Given the description of an element on the screen output the (x, y) to click on. 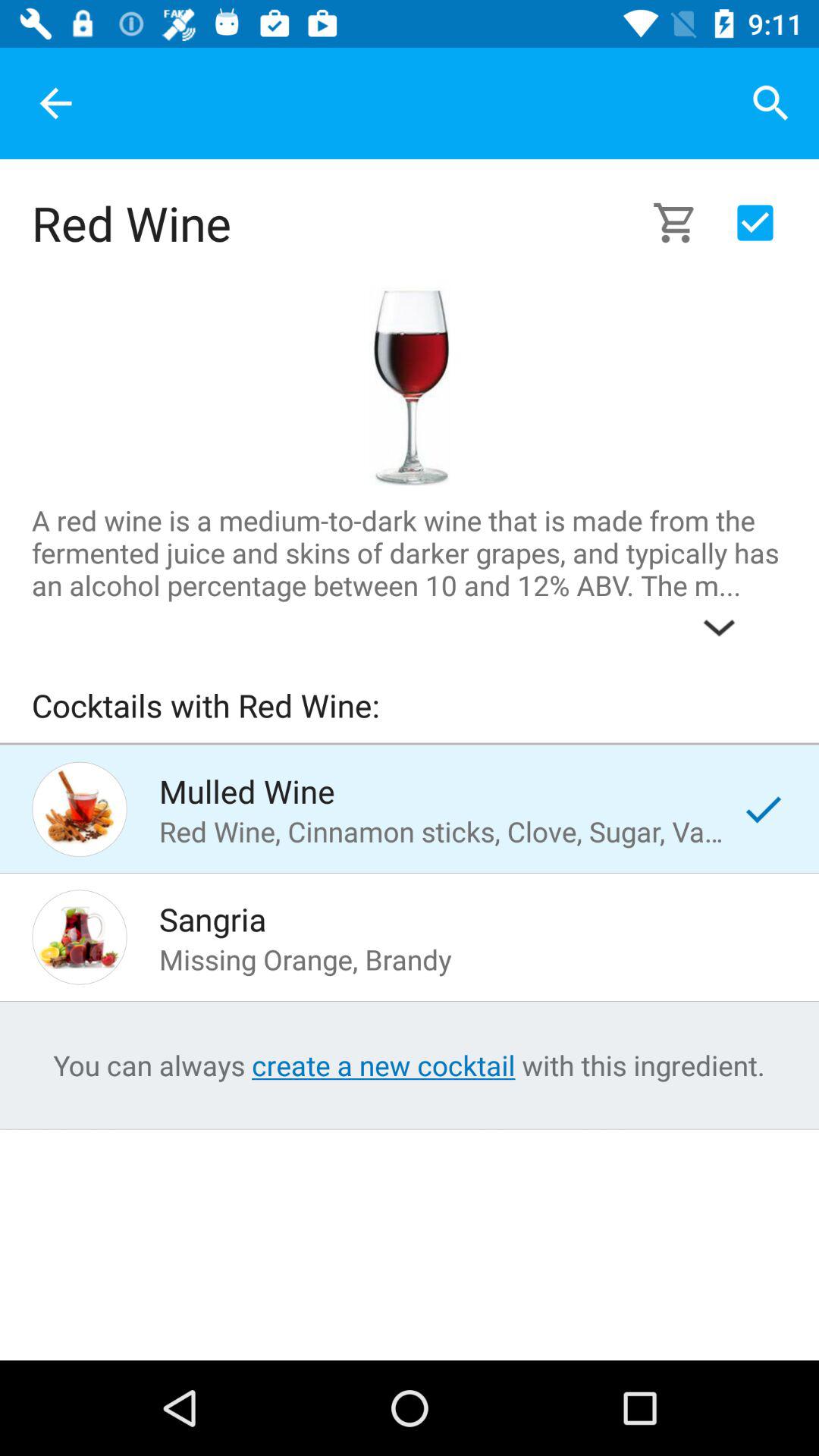
turn of cart (755, 222)
